Given the description of an element on the screen output the (x, y) to click on. 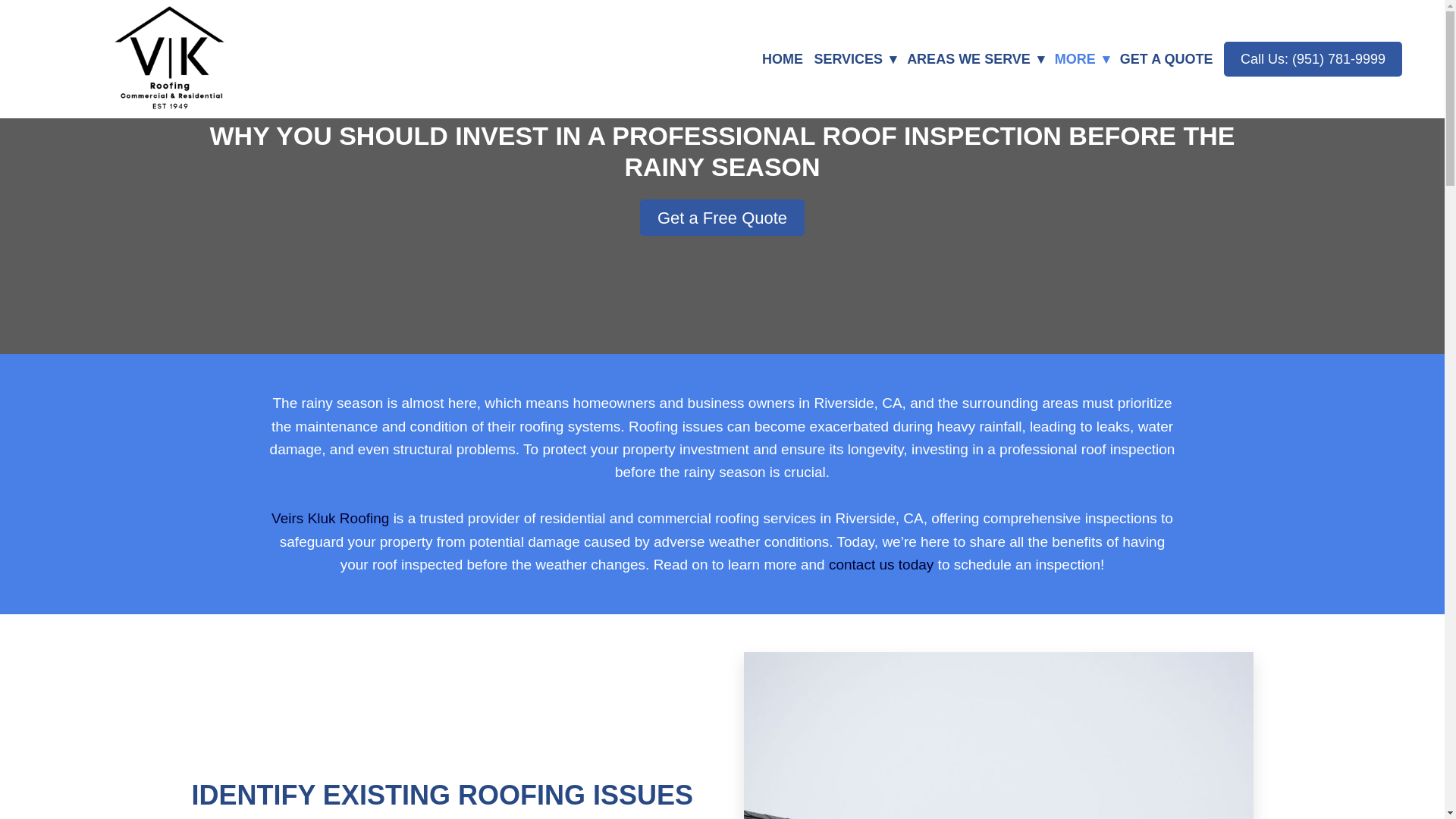
VK Roofing (170, 59)
torn section of shingles (997, 735)
Get a Free Quote (722, 217)
GET A QUOTE (1165, 58)
contact us today (880, 564)
Veirs Kluk Roofing (329, 518)
HOME (782, 58)
